Given the description of an element on the screen output the (x, y) to click on. 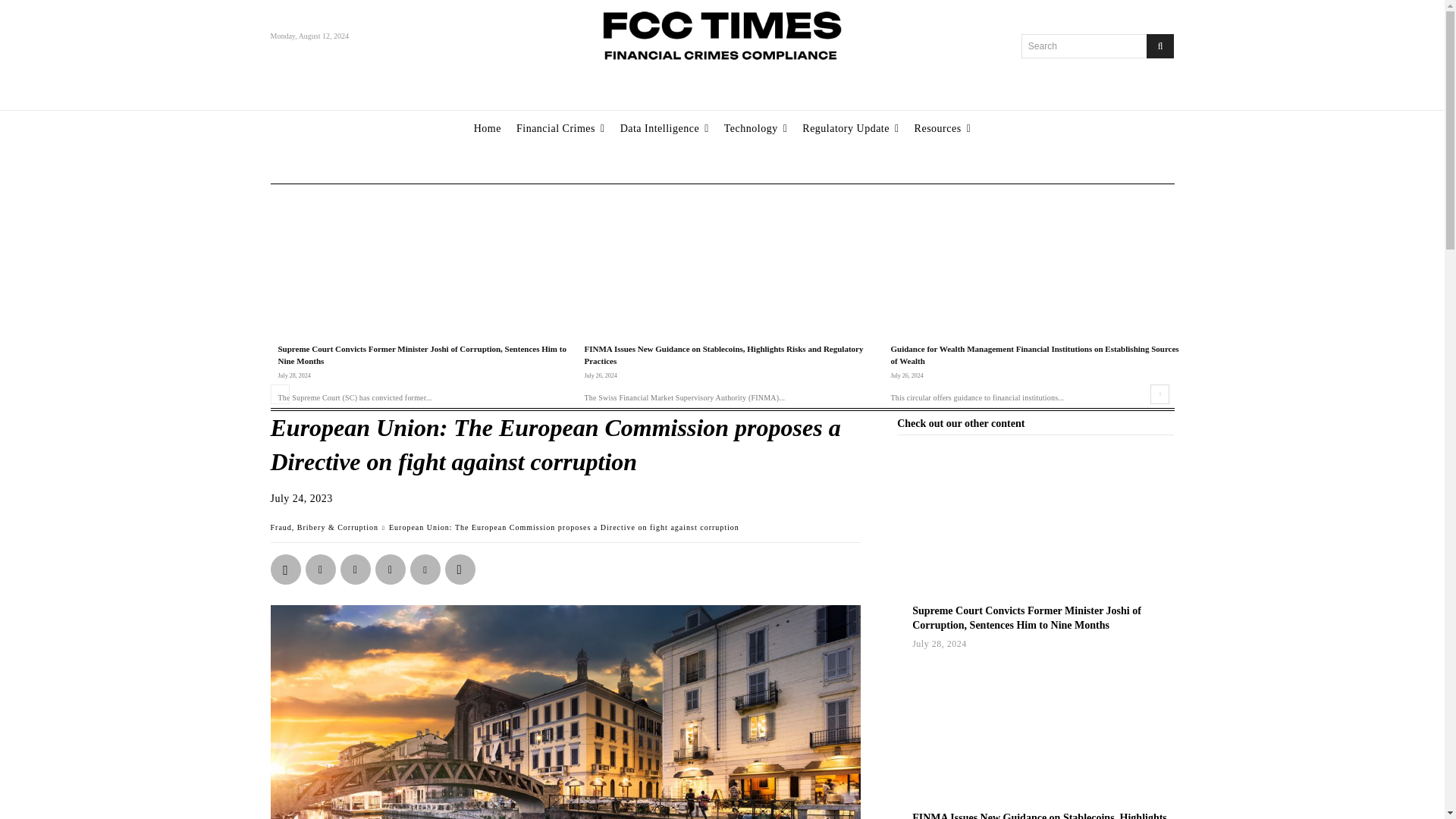
WhatsApp (284, 569)
Home (487, 128)
Twitter (354, 569)
Facebook (389, 569)
Linkedin (319, 569)
